Given the description of an element on the screen output the (x, y) to click on. 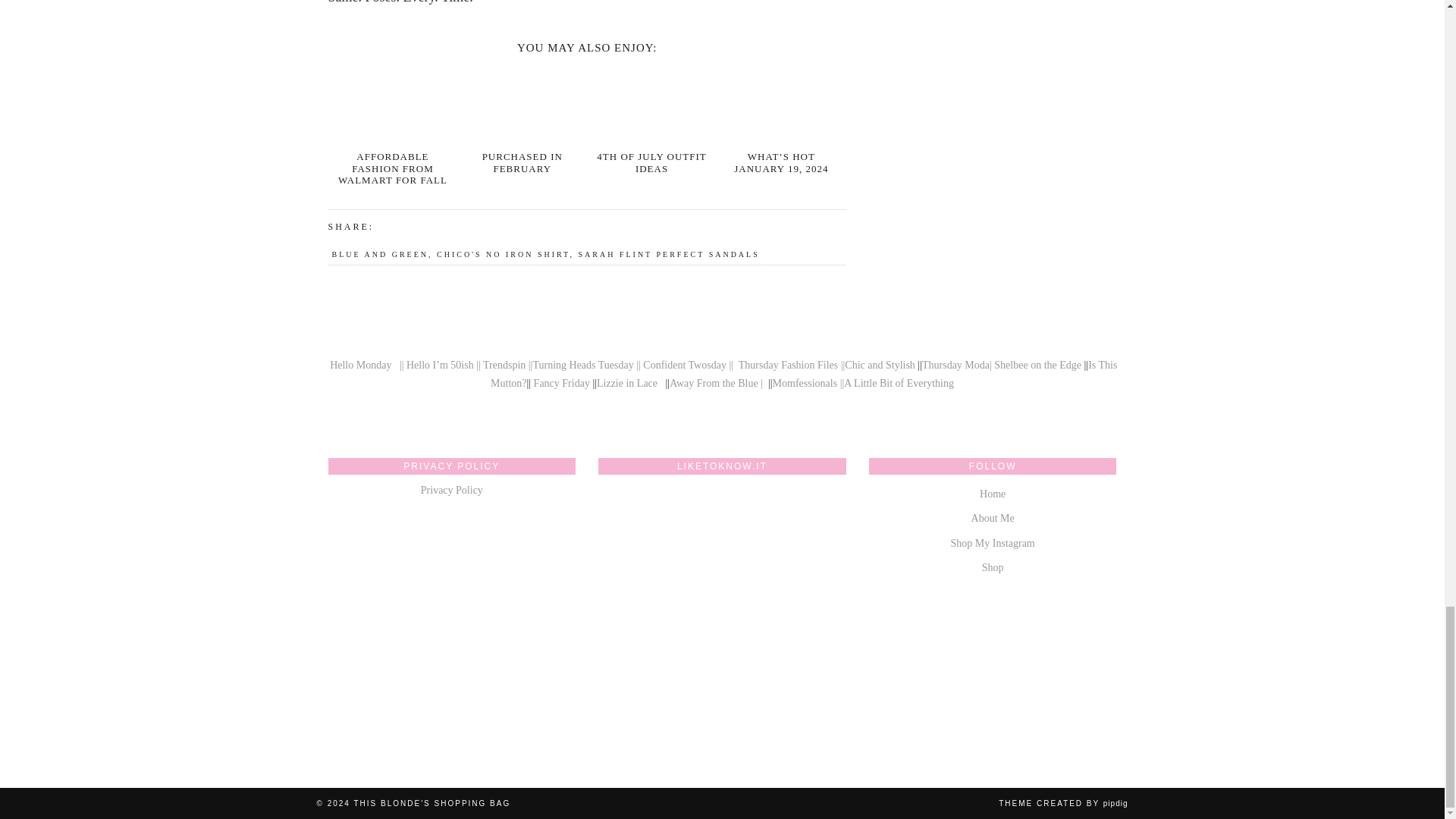
AFFORDABLE FASHION FROM WALMART FOR FALL (391, 167)
4th of July Outfit Ideas (651, 104)
Purchased in February (521, 161)
Affordable Fashion from Walmart for Fall (391, 167)
Affordable Fashion from Walmart for Fall (392, 104)
4TH OF JULY OUTFIT IDEAS (651, 161)
PURCHASED IN FEBRUARY (521, 161)
Purchased in February (522, 104)
